Given the description of an element on the screen output the (x, y) to click on. 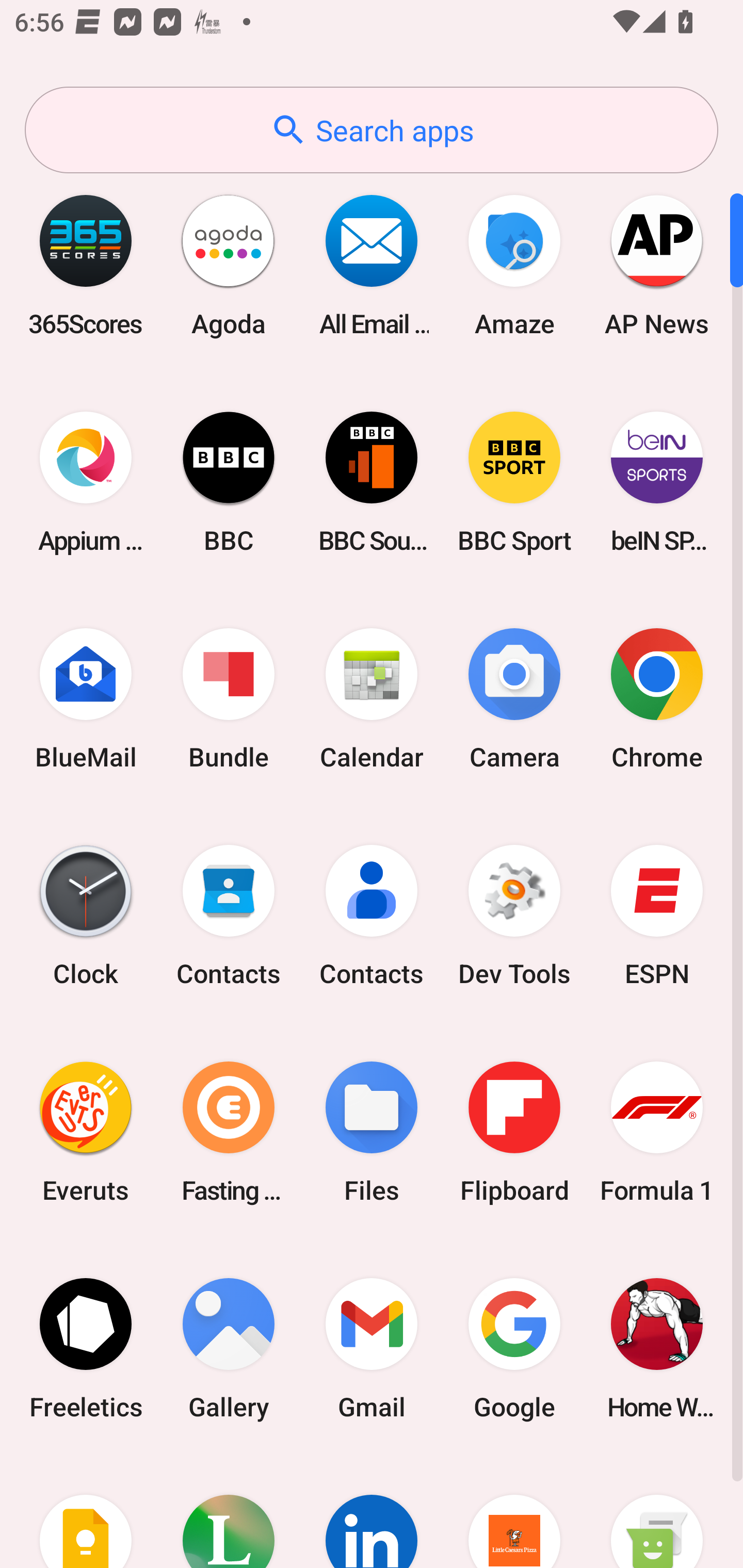
  Search apps (371, 130)
365Scores (85, 264)
Agoda (228, 264)
All Email Connect (371, 264)
Amaze (514, 264)
AP News (656, 264)
Appium Settings (85, 482)
BBC (228, 482)
BBC Sounds (371, 482)
BBC Sport (514, 482)
beIN SPORTS (656, 482)
BlueMail (85, 699)
Bundle (228, 699)
Calendar (371, 699)
Camera (514, 699)
Chrome (656, 699)
Clock (85, 915)
Contacts (228, 915)
Contacts (371, 915)
Dev Tools (514, 915)
ESPN (656, 915)
Everuts (85, 1131)
Fasting Coach (228, 1131)
Files (371, 1131)
Flipboard (514, 1131)
Formula 1 (656, 1131)
Freeletics (85, 1348)
Gallery (228, 1348)
Gmail (371, 1348)
Google (514, 1348)
Home Workout (656, 1348)
Keep Notes (85, 1512)
Lifesum (228, 1512)
LinkedIn (371, 1512)
Little Caesars Pizza (514, 1512)
Messaging (656, 1512)
